Given the description of an element on the screen output the (x, y) to click on. 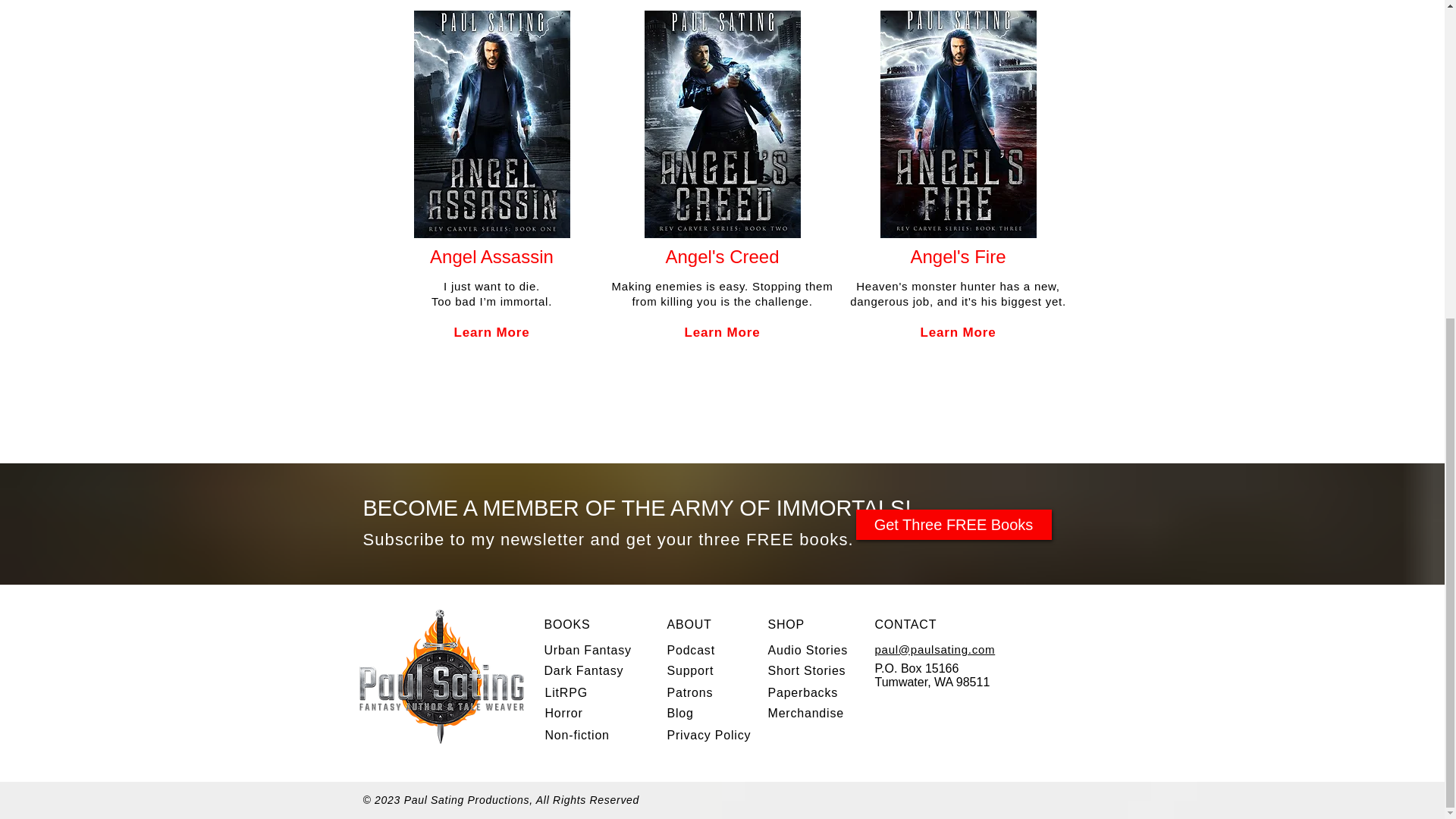
ABOUT (688, 624)
Get Three FREE Books (953, 524)
CONTACT (906, 624)
Learn More (490, 332)
Learn More (957, 332)
Learn More (722, 332)
Podcast (690, 649)
